Given the description of an element on the screen output the (x, y) to click on. 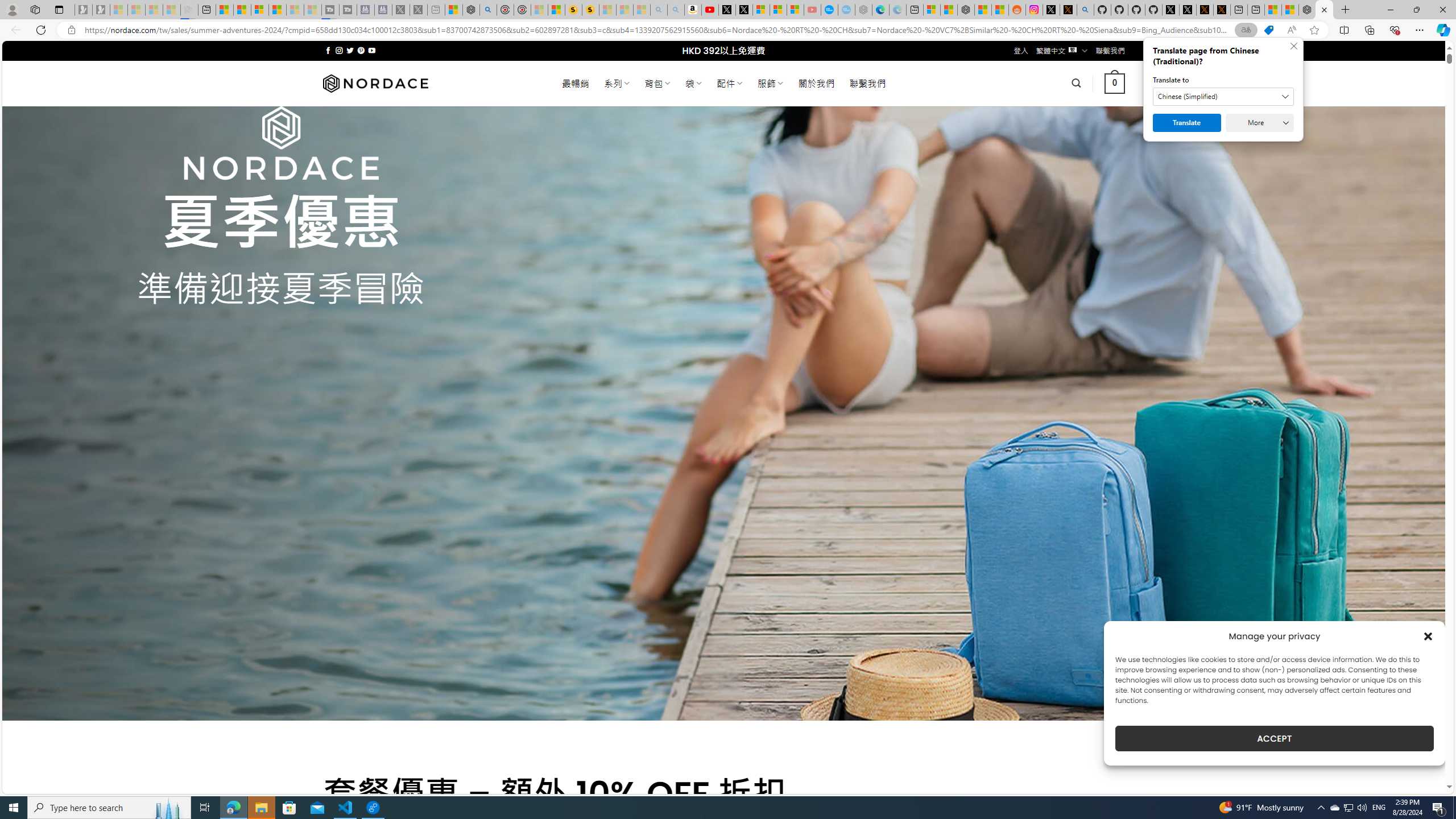
X Privacy Policy (1221, 9)
GitHub (@github) / X (1187, 9)
Nordace - Duffels (965, 9)
